Given the description of an element on the screen output the (x, y) to click on. 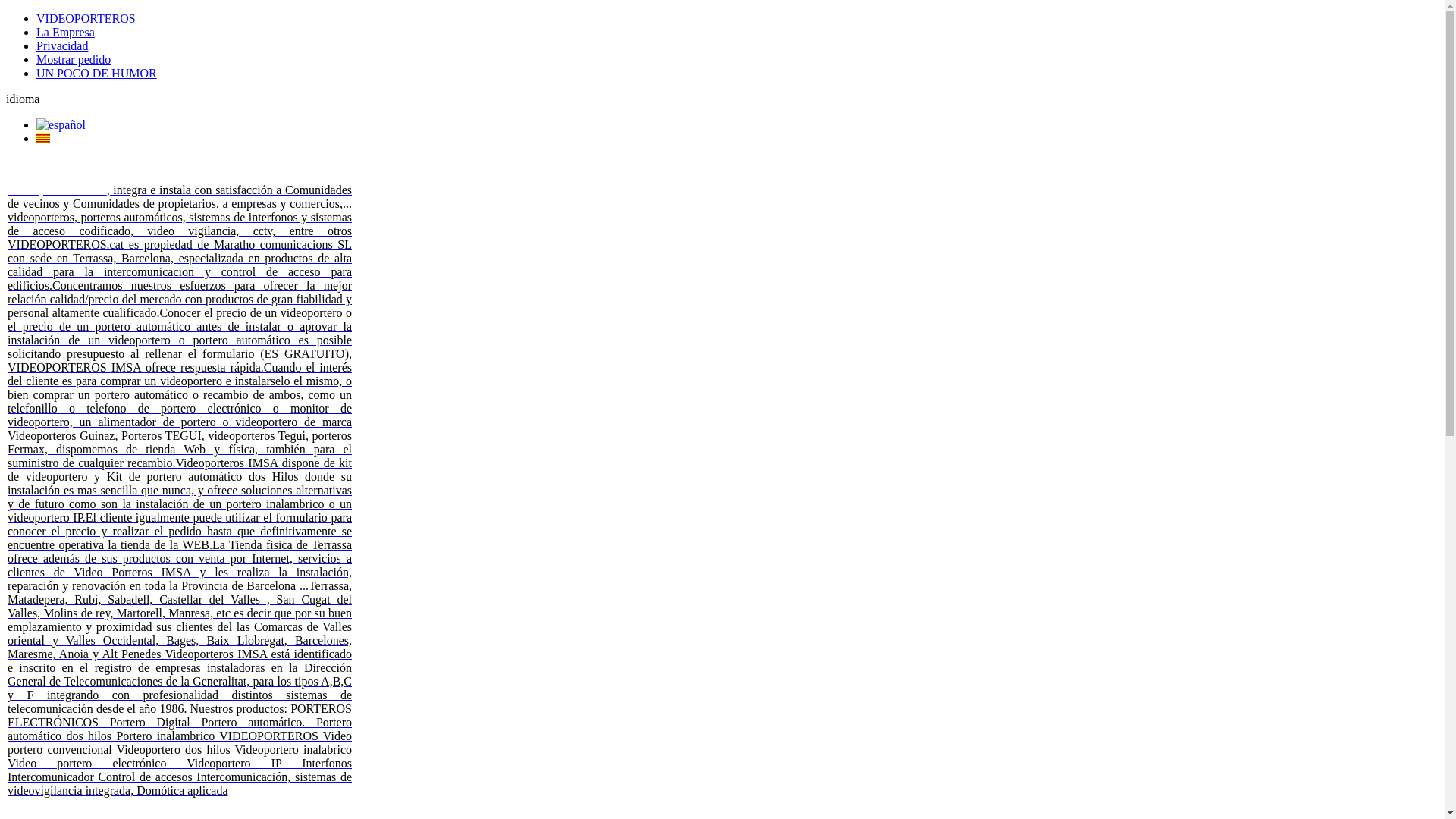
Mostrar pedido Element type: text (73, 59)
VIDEOPORTEROS Element type: text (85, 18)
UN POCO DE HUMOR Element type: text (96, 72)
La Empresa Element type: text (65, 31)
  Element type: text (8, 189)
Privacidad Element type: text (61, 45)
